Given the description of an element on the screen output the (x, y) to click on. 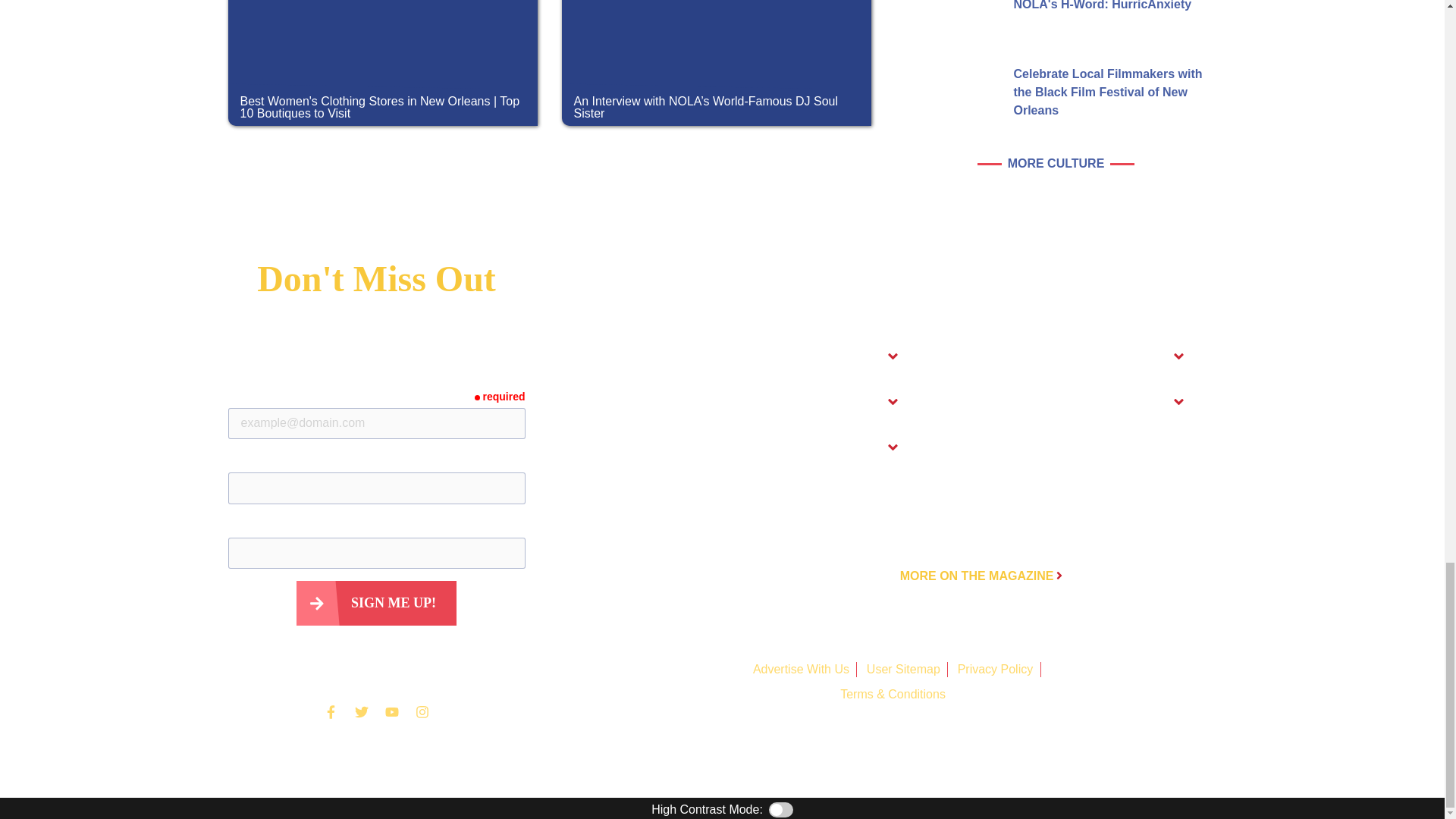
Instagram (421, 711)
Facebook (330, 711)
Field Required (499, 396)
YouTube (390, 711)
